Given the description of an element on the screen output the (x, y) to click on. 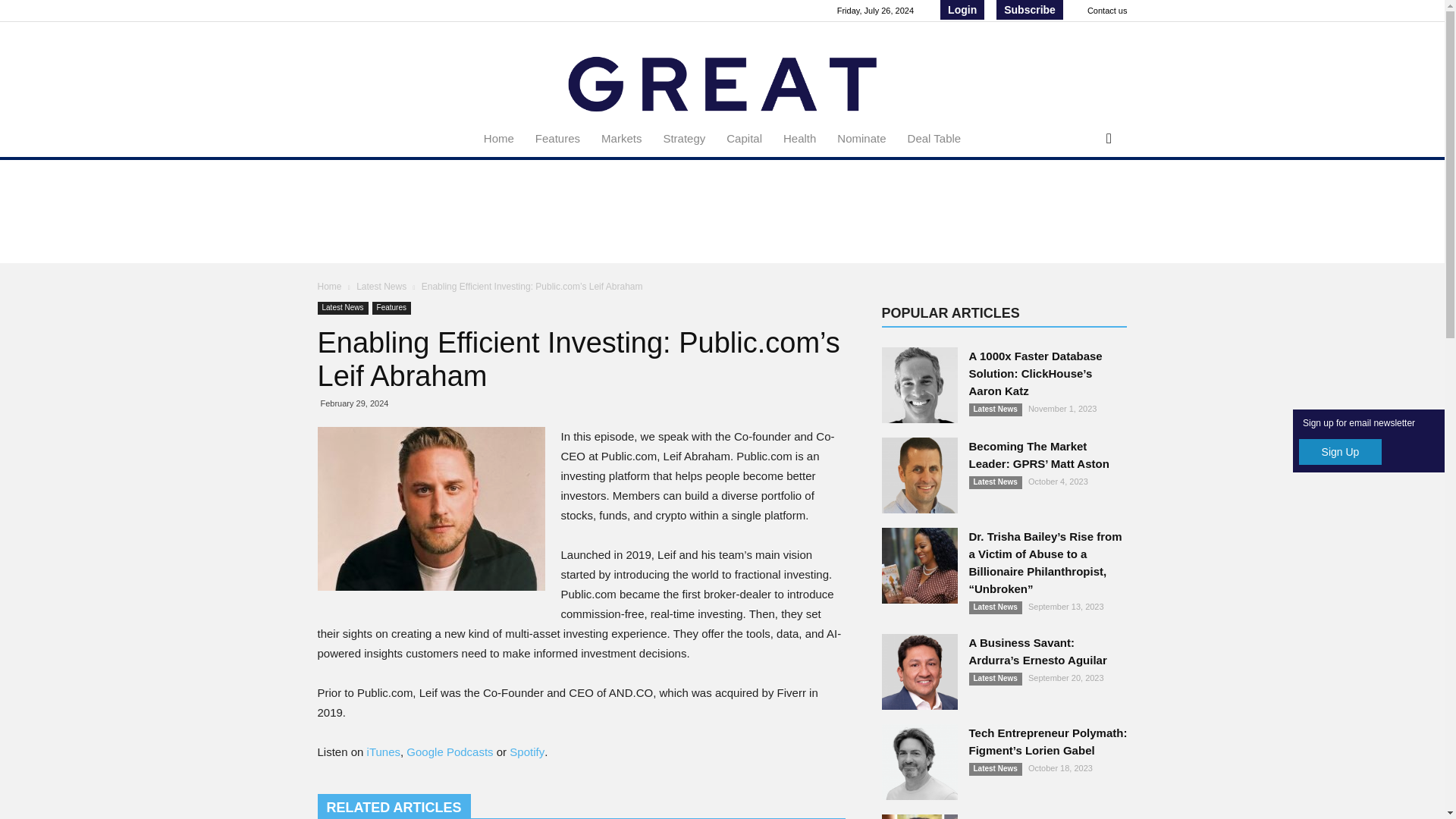
Sign Up (1339, 451)
Home (498, 138)
Login (962, 9)
Subscribe (1028, 9)
Capital (744, 138)
Features (557, 138)
Deal Table (934, 138)
Health (800, 138)
Contact us (1106, 10)
Public (430, 508)
View all posts in Latest News (382, 286)
Markets (621, 138)
Nominate (861, 138)
Strategy (684, 138)
